Given the description of an element on the screen output the (x, y) to click on. 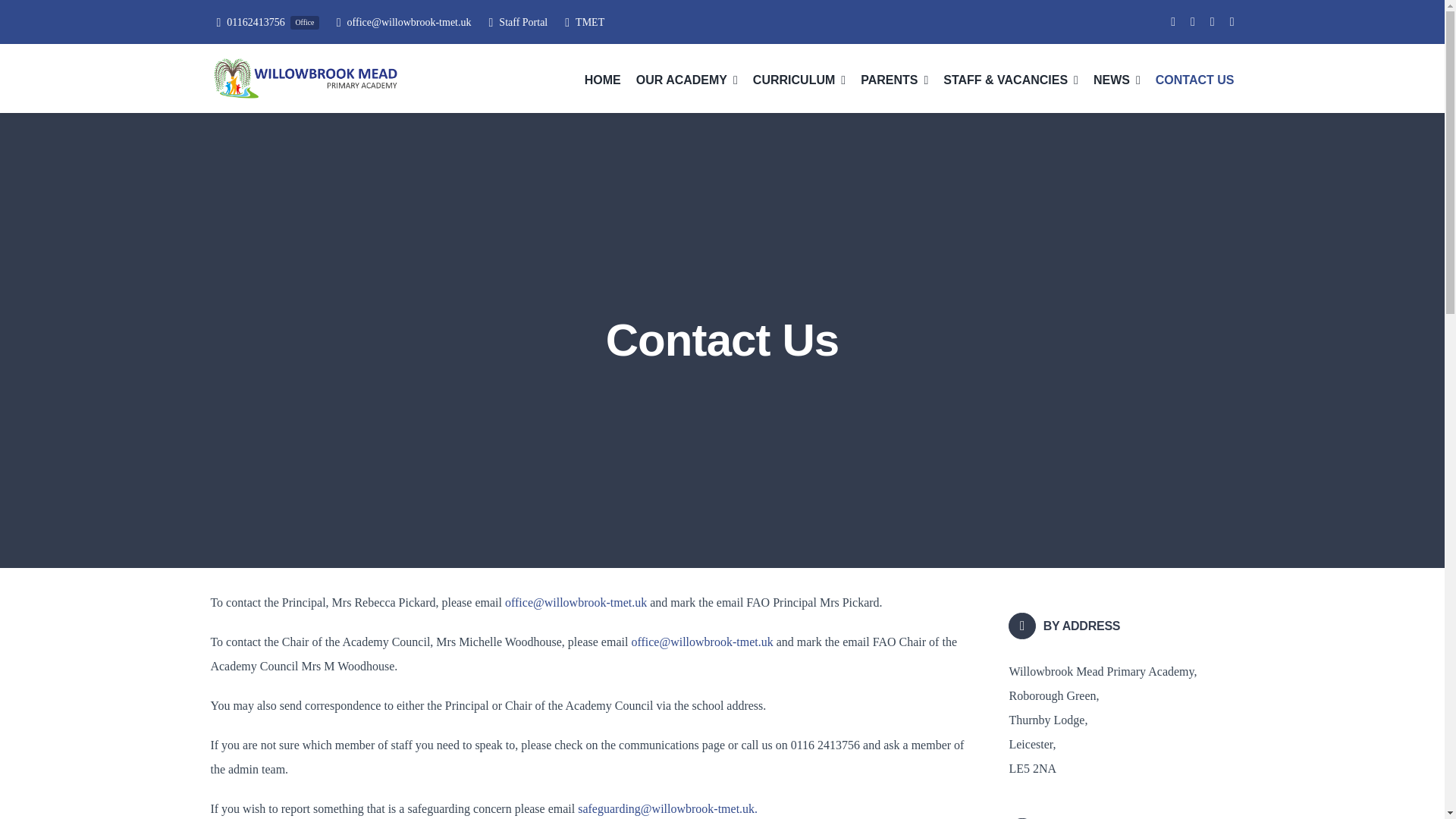
Staff Portal (514, 22)
TMET (581, 22)
OUR ACADEMY (264, 22)
